Given the description of an element on the screen output the (x, y) to click on. 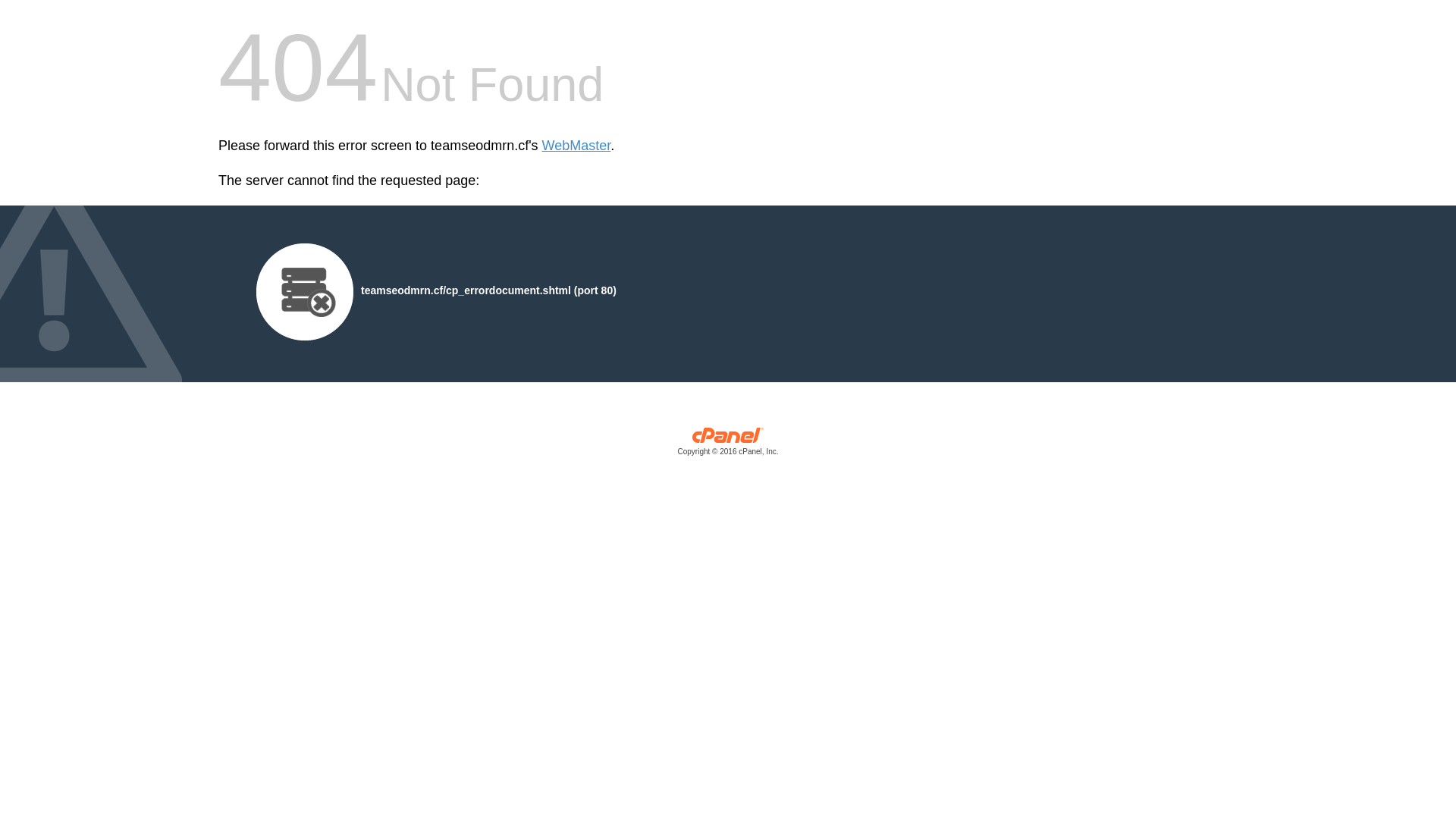
WebMaster Element type: text (576, 145)
